Given the description of an element on the screen output the (x, y) to click on. 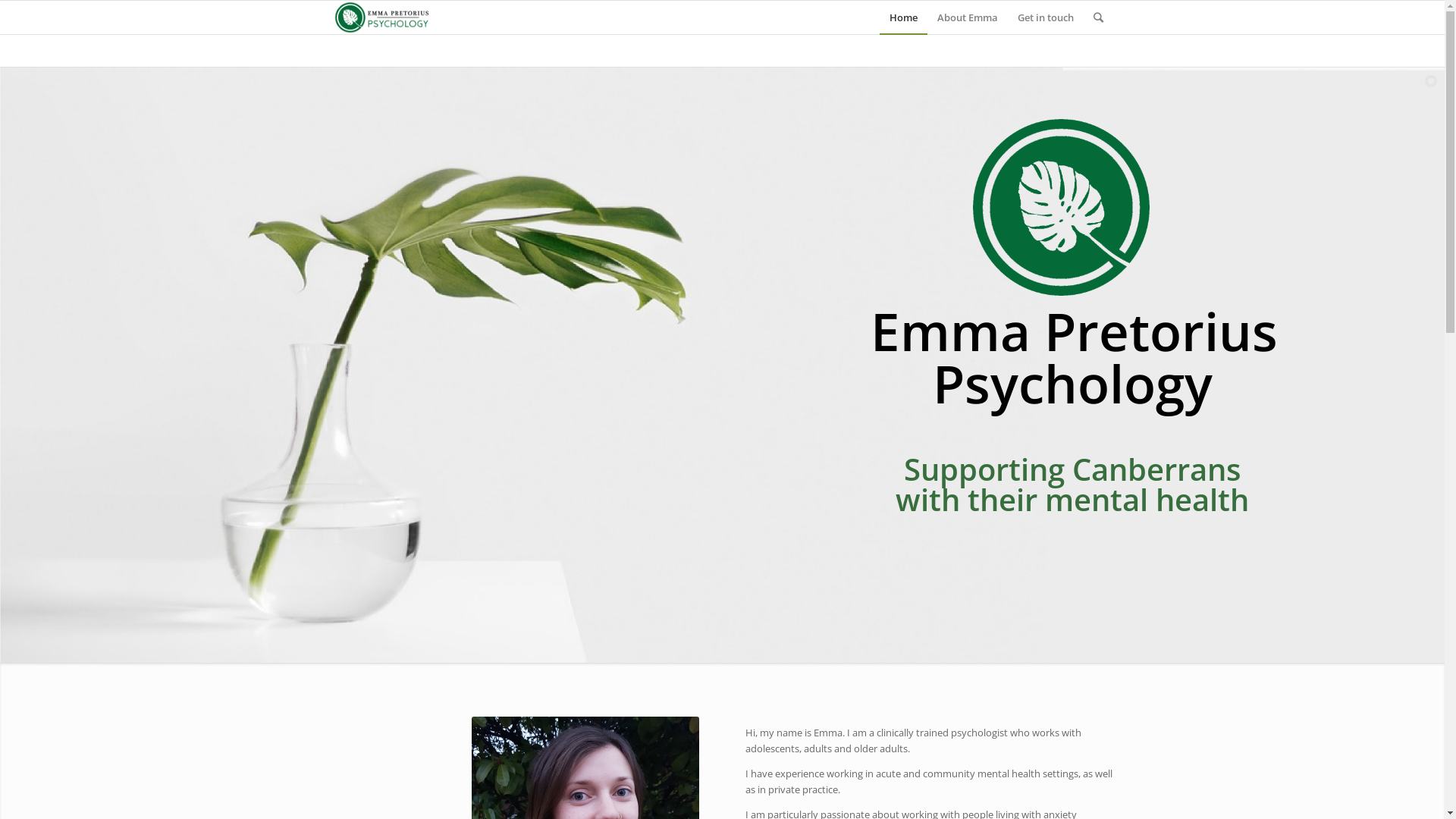
About Emma Element type: text (966, 17)
Get in touch Element type: text (1044, 17)
Home Element type: text (903, 17)
